Given the description of an element on the screen output the (x, y) to click on. 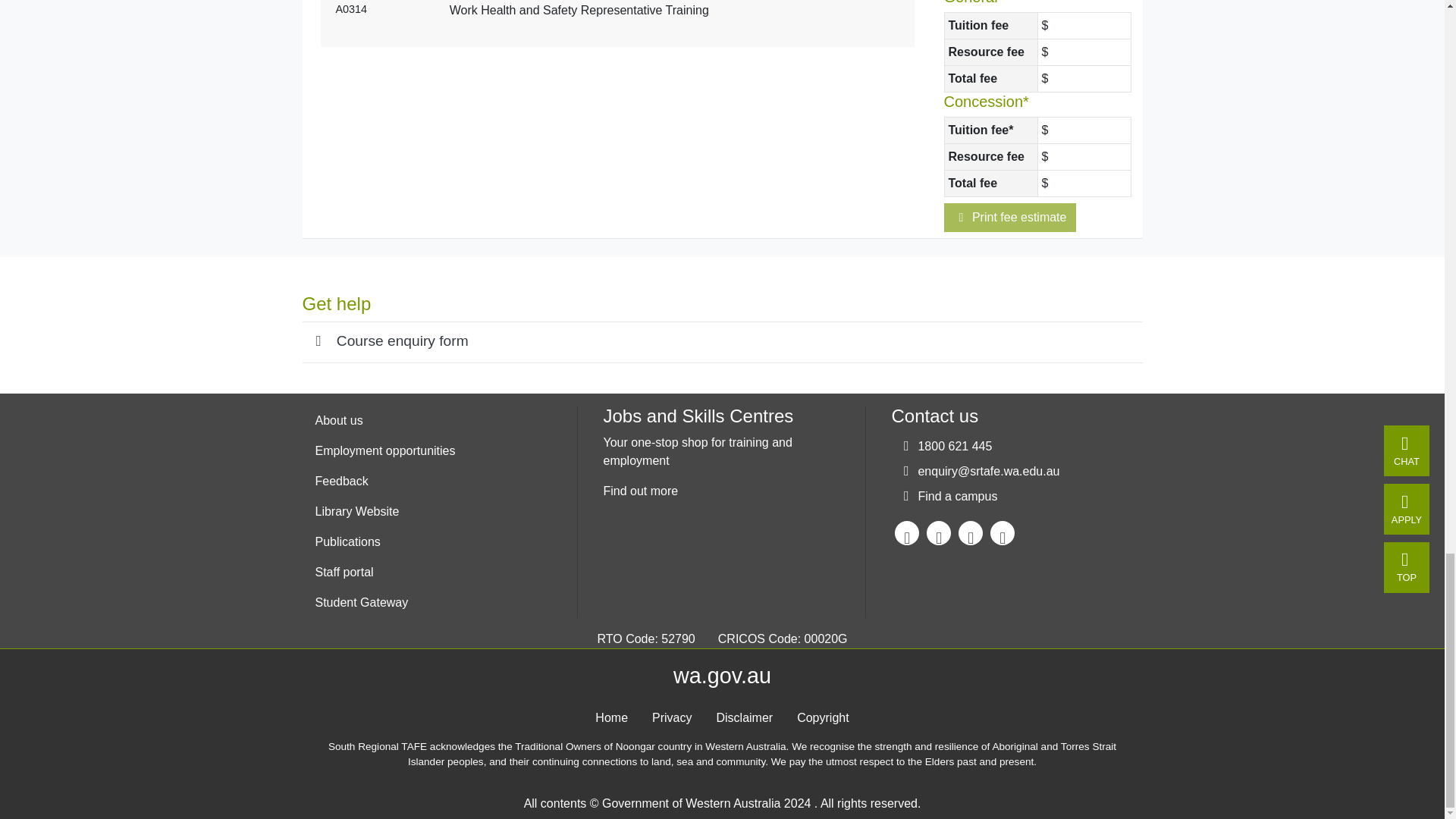
Find out more about joining our workforce (385, 450)
Staff portal (385, 572)
About our college and facilities (385, 420)
Go to WA Government Online Entry Point (721, 675)
